Given the description of an element on the screen output the (x, y) to click on. 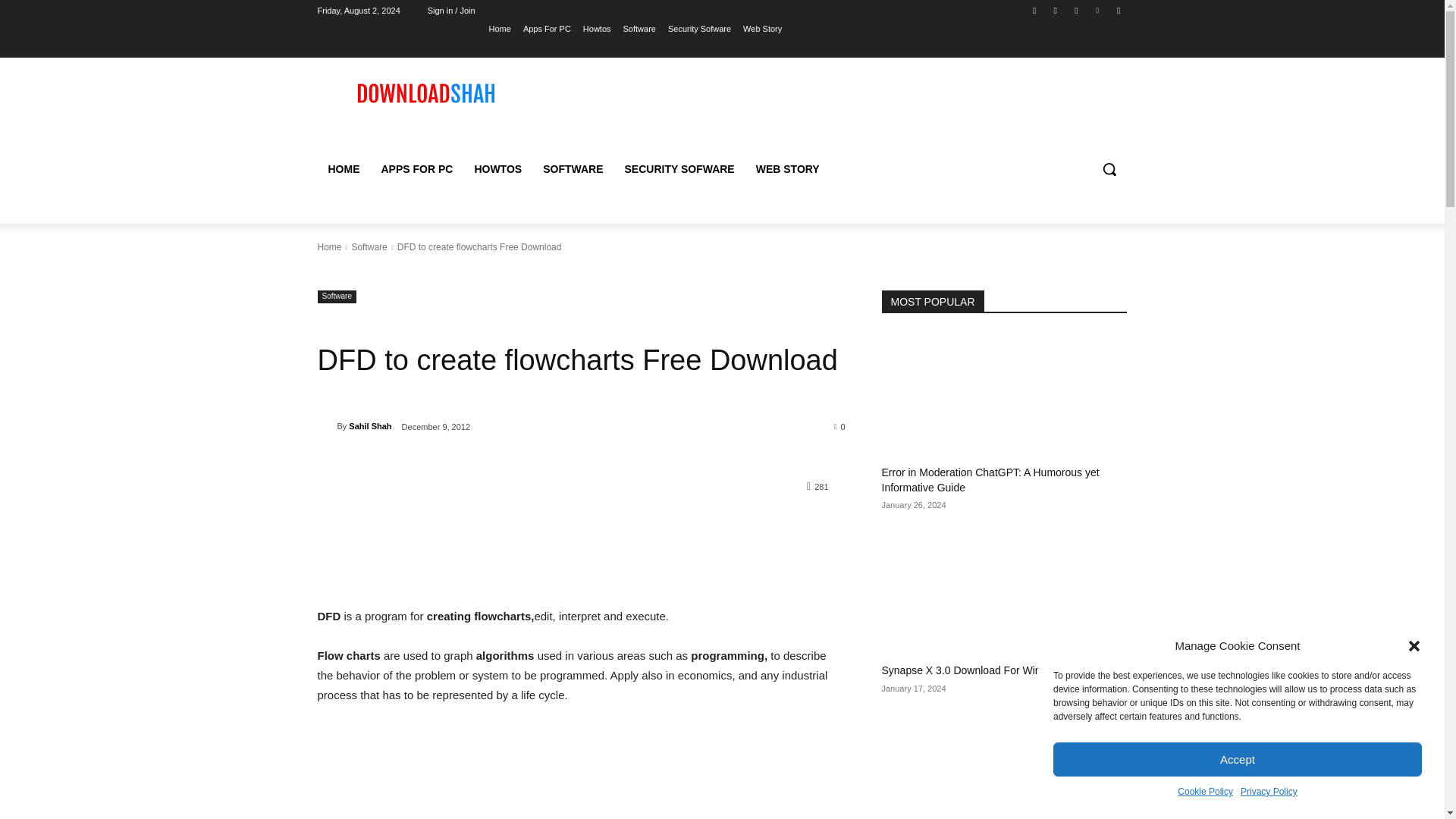
Twitter (1075, 9)
HOME (343, 168)
Instagram (1055, 9)
Security Sofware (699, 28)
View all posts in Software (368, 246)
Howtos (597, 28)
Web Story (761, 28)
Software (639, 28)
Cookie Policy (1205, 791)
Home (500, 28)
Vimeo (1097, 9)
Sahil Shah (326, 426)
Facebook (1034, 9)
Youtube (1117, 9)
Accept (1237, 759)
